Given the description of an element on the screen output the (x, y) to click on. 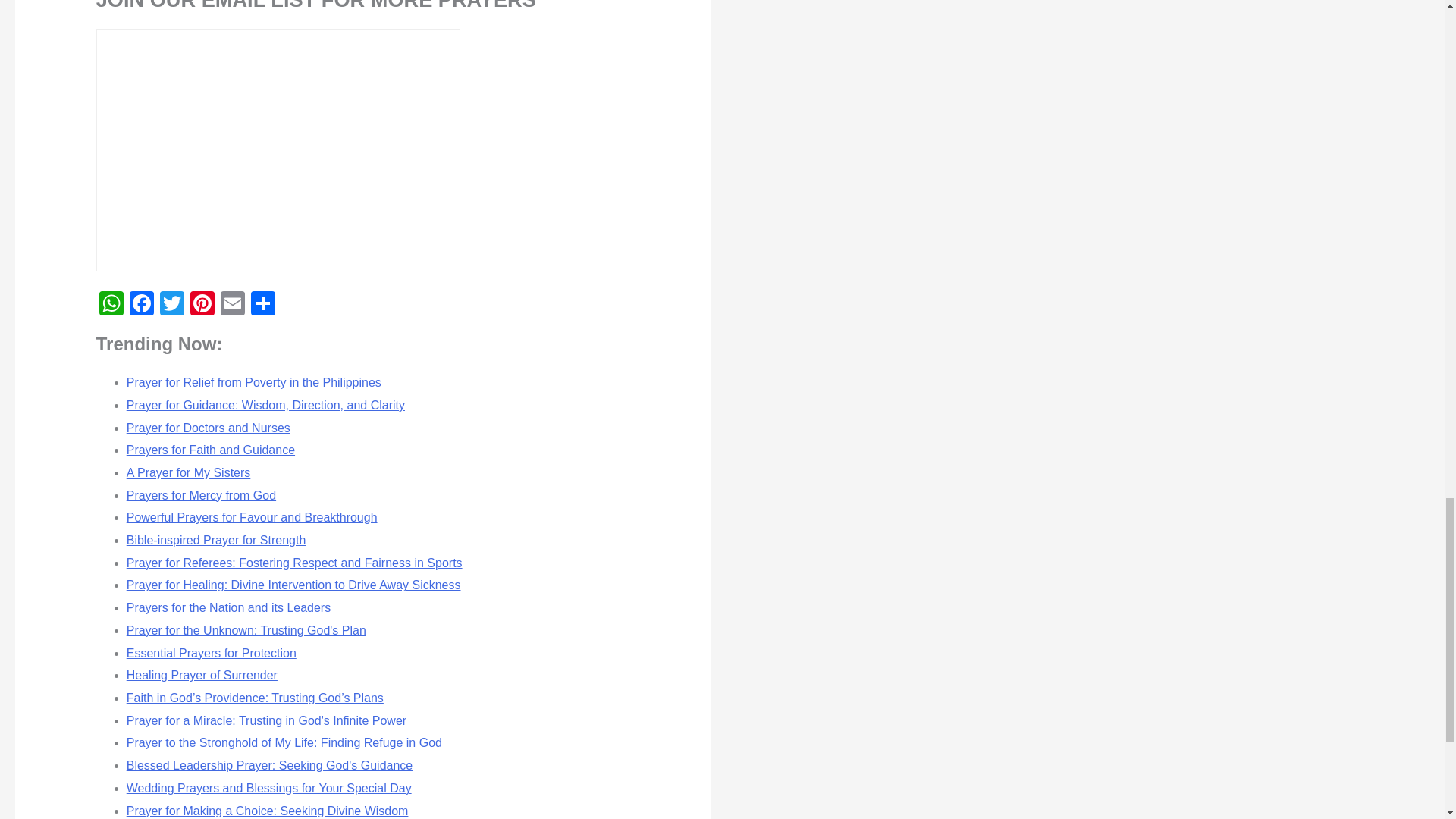
Bible-inspired Prayer for Strength (215, 540)
Email (231, 305)
Prayer for Relief from Poverty in the Philippines (253, 382)
A Prayer for My Sisters (188, 472)
WhatsApp (111, 305)
Facebook (141, 305)
Prayers for Mercy from God (201, 495)
Twitter (172, 305)
Facebook (141, 305)
